Given the description of an element on the screen output the (x, y) to click on. 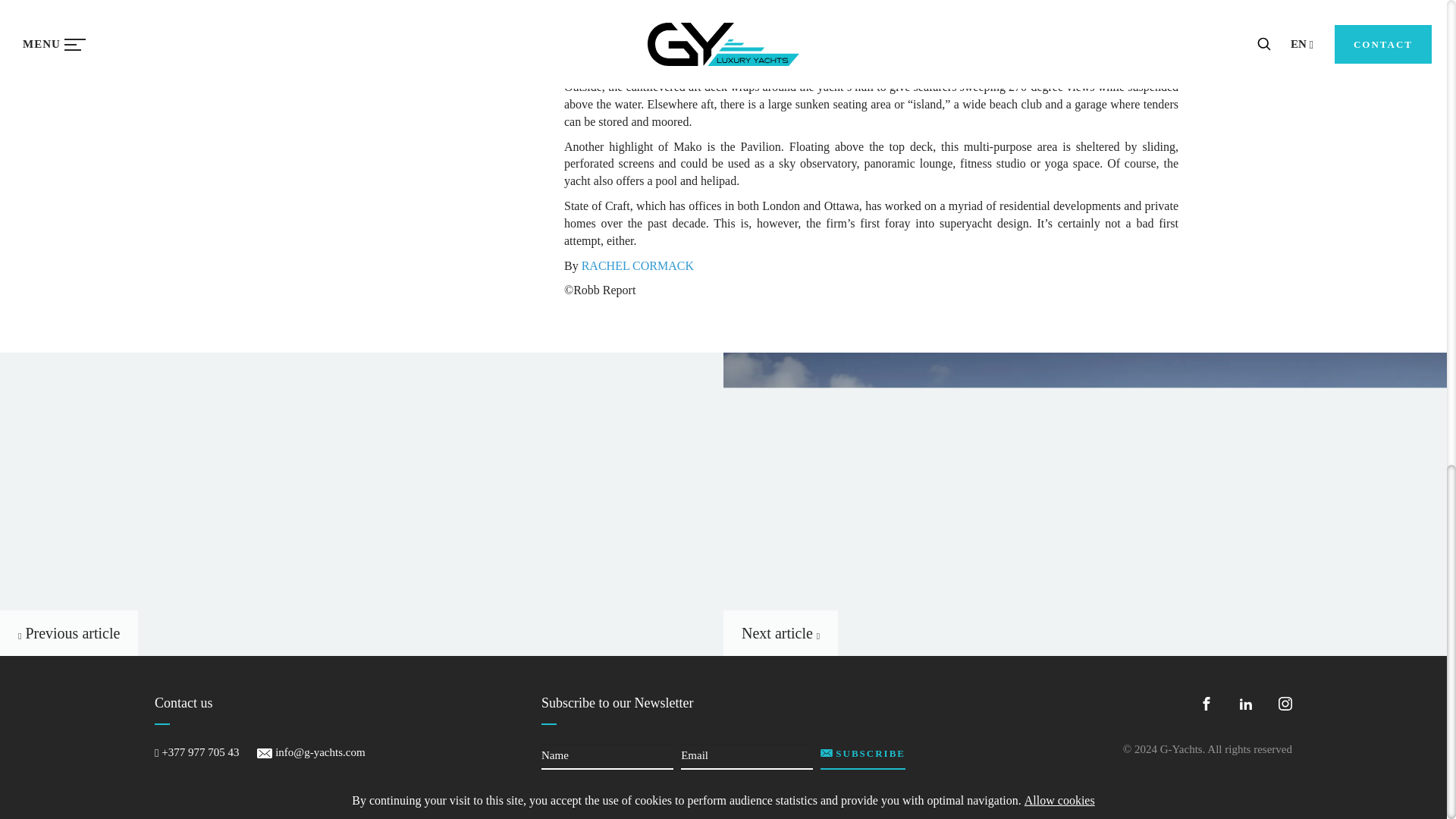
Next article (780, 633)
Previous article (69, 633)
SUBSCRIBE (863, 756)
RACHEL CORMACK (637, 265)
